Given the description of an element on the screen output the (x, y) to click on. 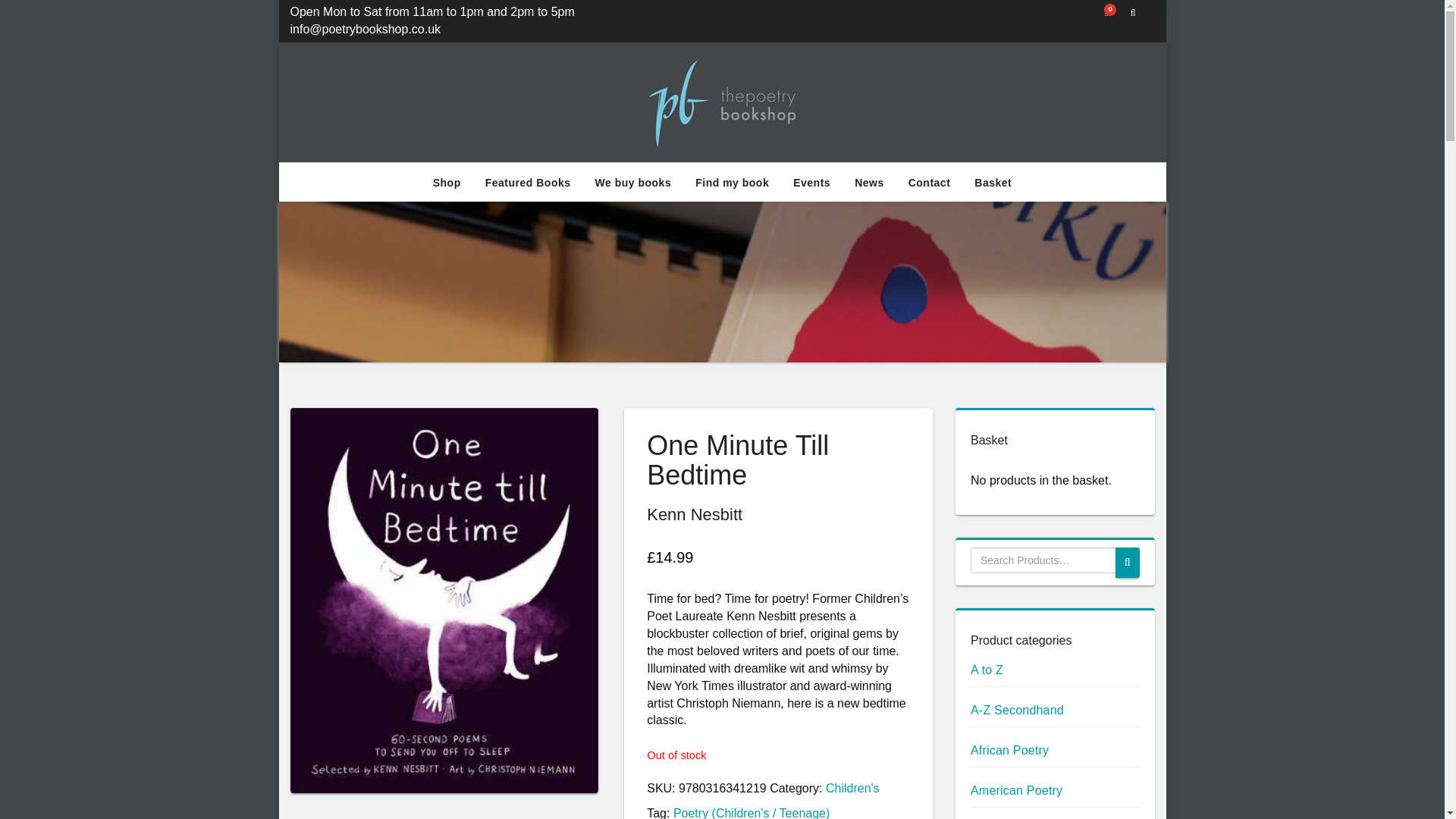
Events (811, 182)
We buy books (633, 182)
Find my book (731, 182)
Find my book (731, 182)
Shop (446, 182)
We buy books (633, 182)
Shop (446, 182)
Featured Books (528, 182)
Children's (852, 788)
Featured Books (528, 182)
Events (811, 182)
